Given the description of an element on the screen output the (x, y) to click on. 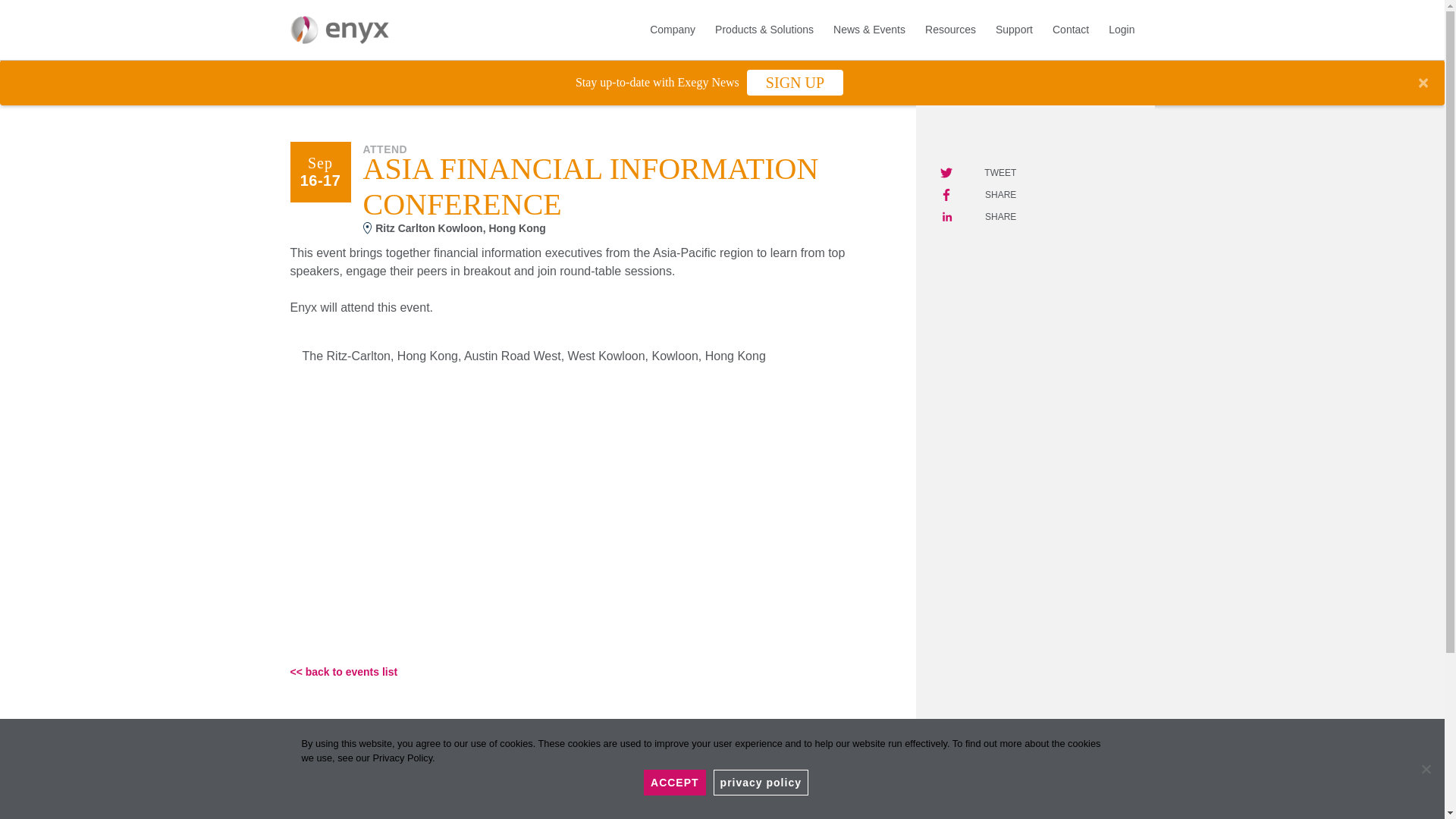
SHARE (978, 214)
Login (1126, 29)
Resources (949, 29)
TWEET (978, 170)
SHARE (978, 192)
Contact (1070, 29)
Support (1014, 29)
Company (672, 29)
SIGN UP (794, 82)
Resources (949, 29)
